Given the description of an element on the screen output the (x, y) to click on. 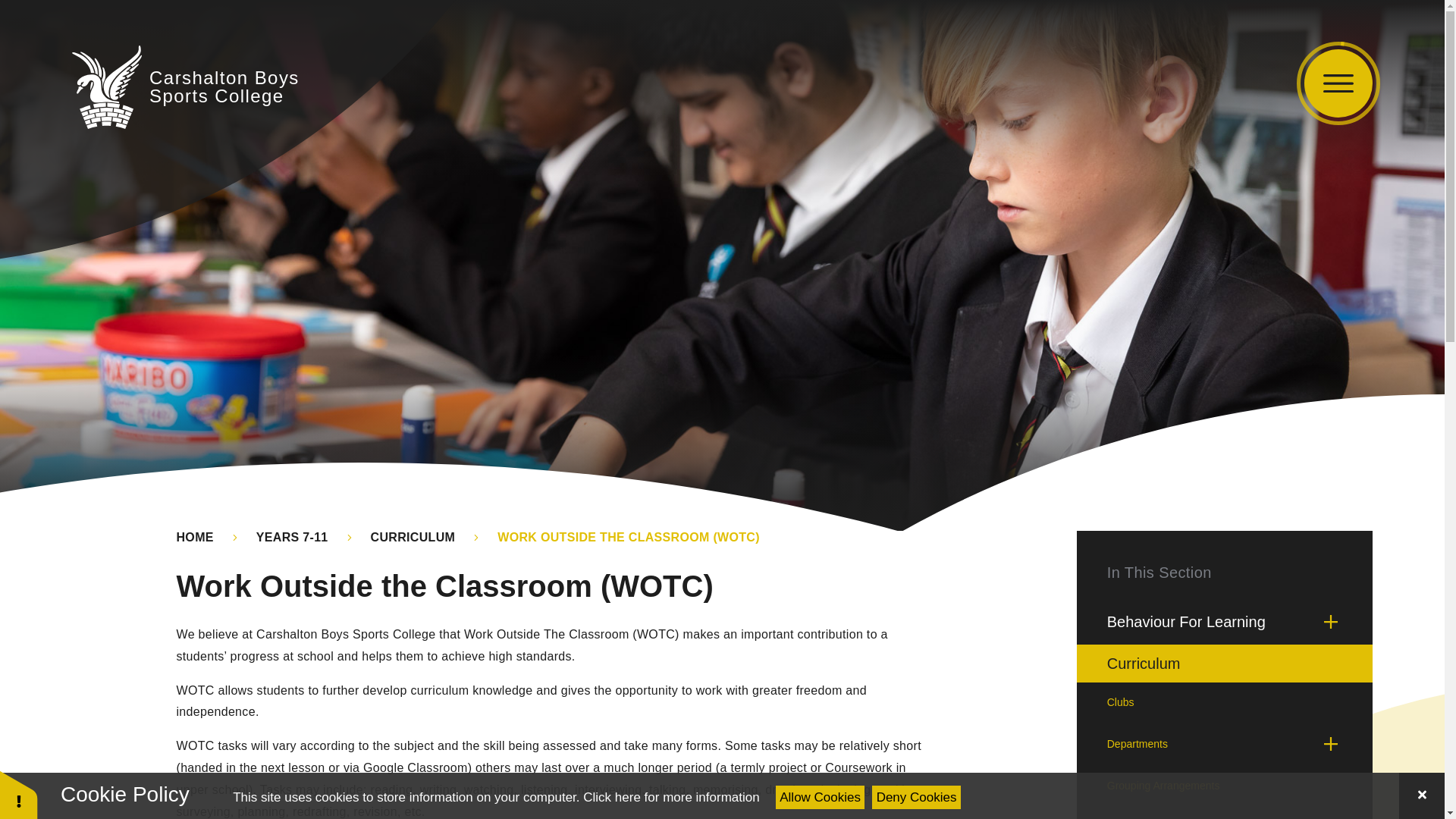
Allow Cookies (820, 797)
Deny Cookies (915, 797)
Cookie Settings (18, 794)
See cookie policy (185, 86)
Open Menu (670, 797)
